Given the description of an element on the screen output the (x, y) to click on. 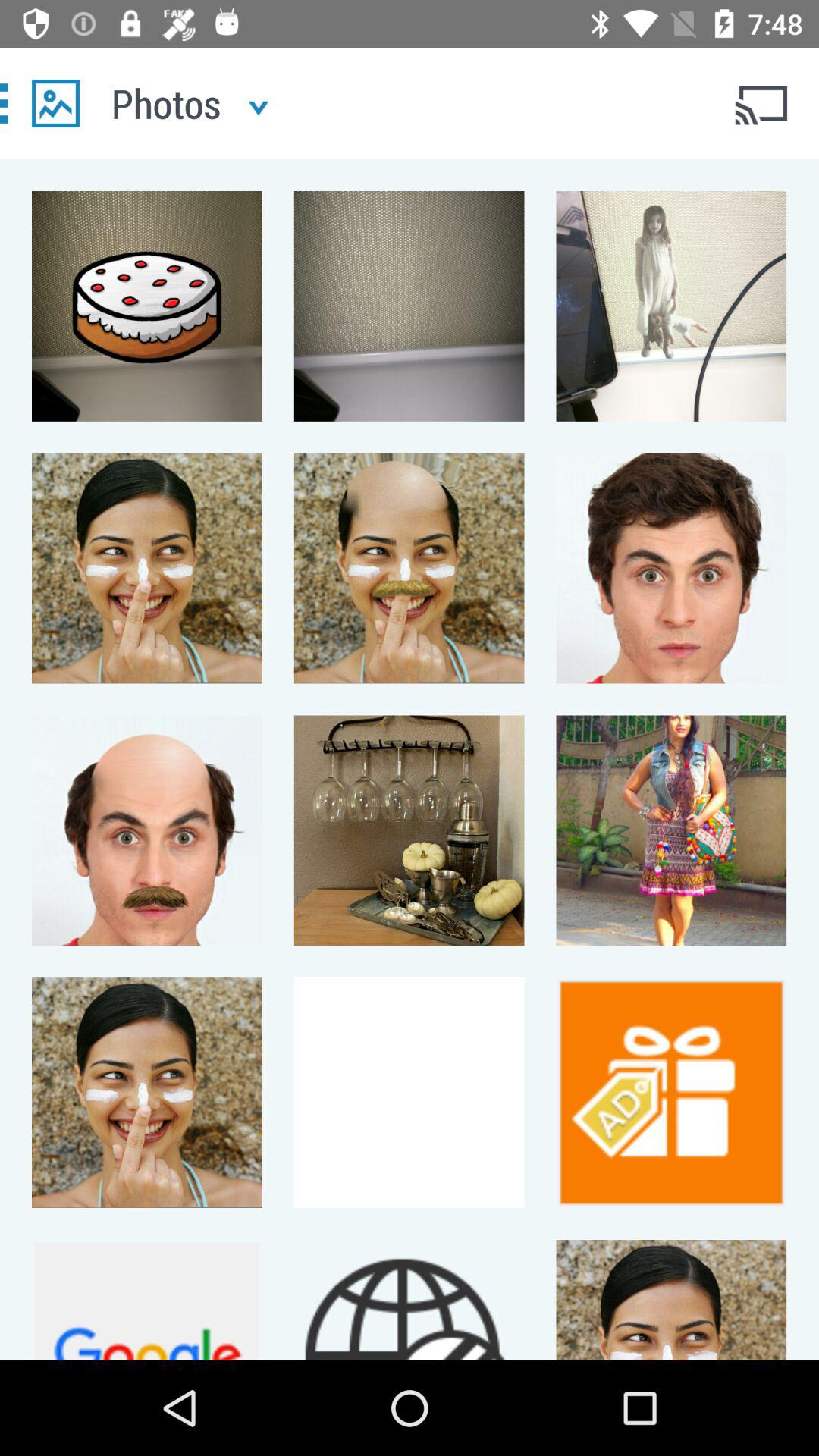
gallery symbol (55, 103)
